Given the description of an element on the screen output the (x, y) to click on. 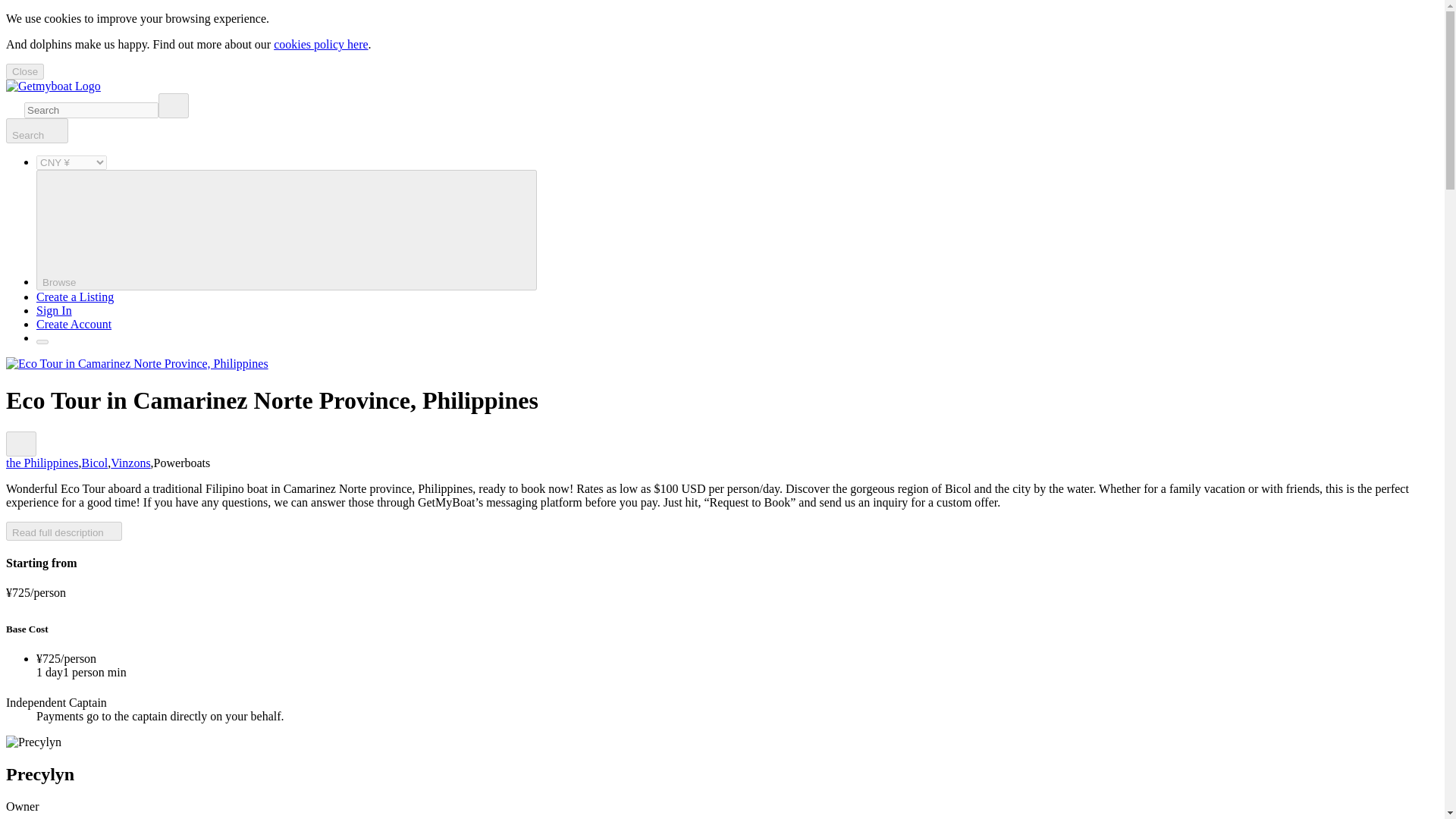
Bicol (94, 462)
Close (24, 71)
Create Account (74, 323)
Search (36, 130)
Create a Listing (74, 296)
Read full description (63, 530)
the Philippines (41, 462)
cookies policy here (320, 43)
Sign In (53, 309)
Vinzons (129, 462)
Clear (173, 105)
Browse (286, 229)
